Given the description of an element on the screen output the (x, y) to click on. 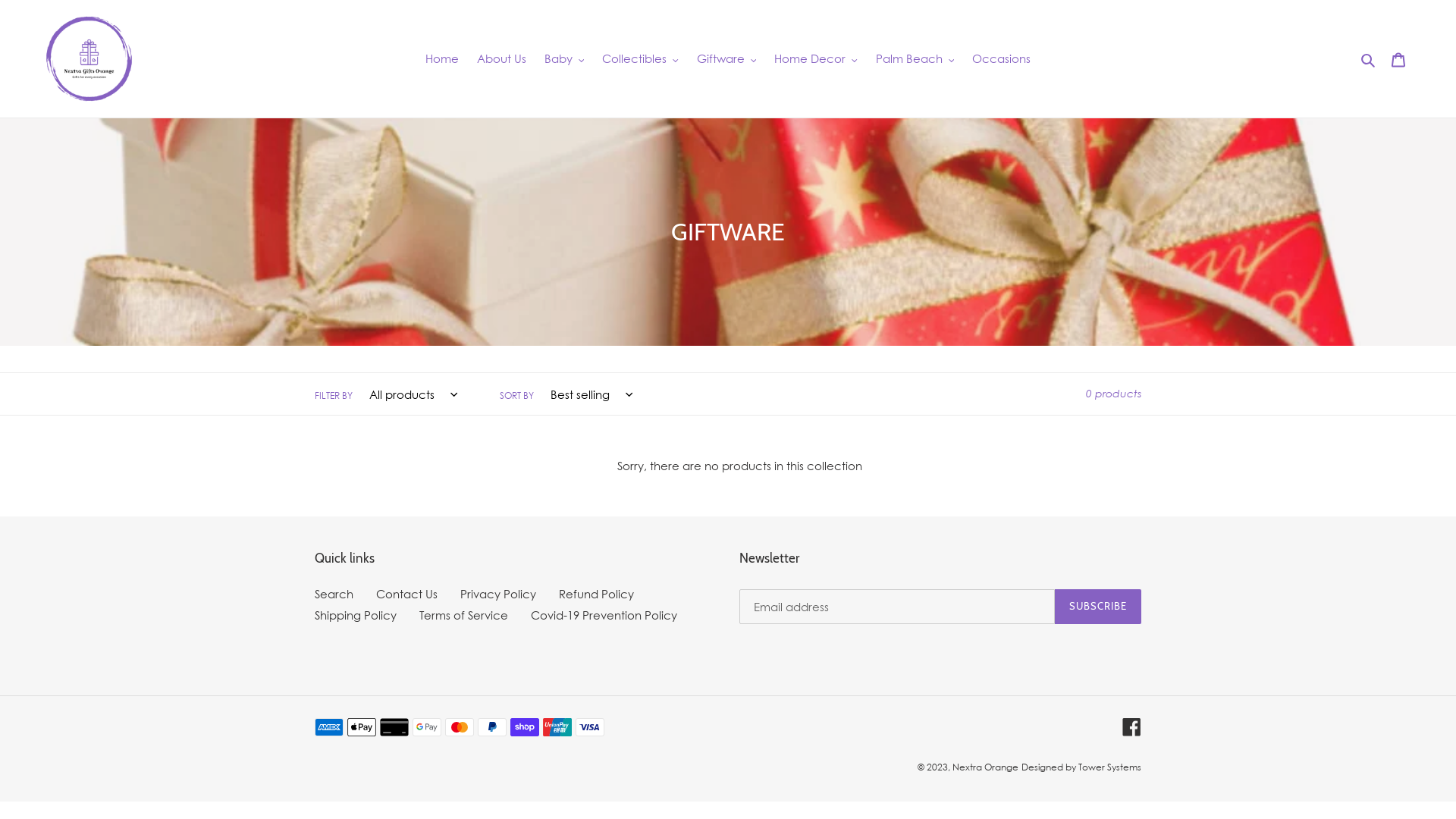
Contact Us Element type: text (406, 593)
Privacy Policy Element type: text (498, 593)
Facebook Element type: text (1131, 727)
Palm Beach Element type: text (915, 58)
Giftware Element type: text (726, 58)
Home Decor Element type: text (815, 58)
Home Element type: text (441, 58)
Occasions Element type: text (1001, 58)
Covid-19 Prevention Policy Element type: text (603, 614)
Shipping Policy Element type: text (355, 614)
Refund Policy Element type: text (595, 593)
Search Element type: text (333, 593)
Search Element type: text (1368, 58)
Collectibles Element type: text (640, 58)
Tower Systems Element type: text (1109, 766)
SUBSCRIBE Element type: text (1097, 606)
Terms of Service Element type: text (463, 614)
Baby Element type: text (564, 58)
Cart Element type: text (1398, 58)
Nextra Orange Element type: text (985, 766)
About Us Element type: text (501, 58)
